Given the description of an element on the screen output the (x, y) to click on. 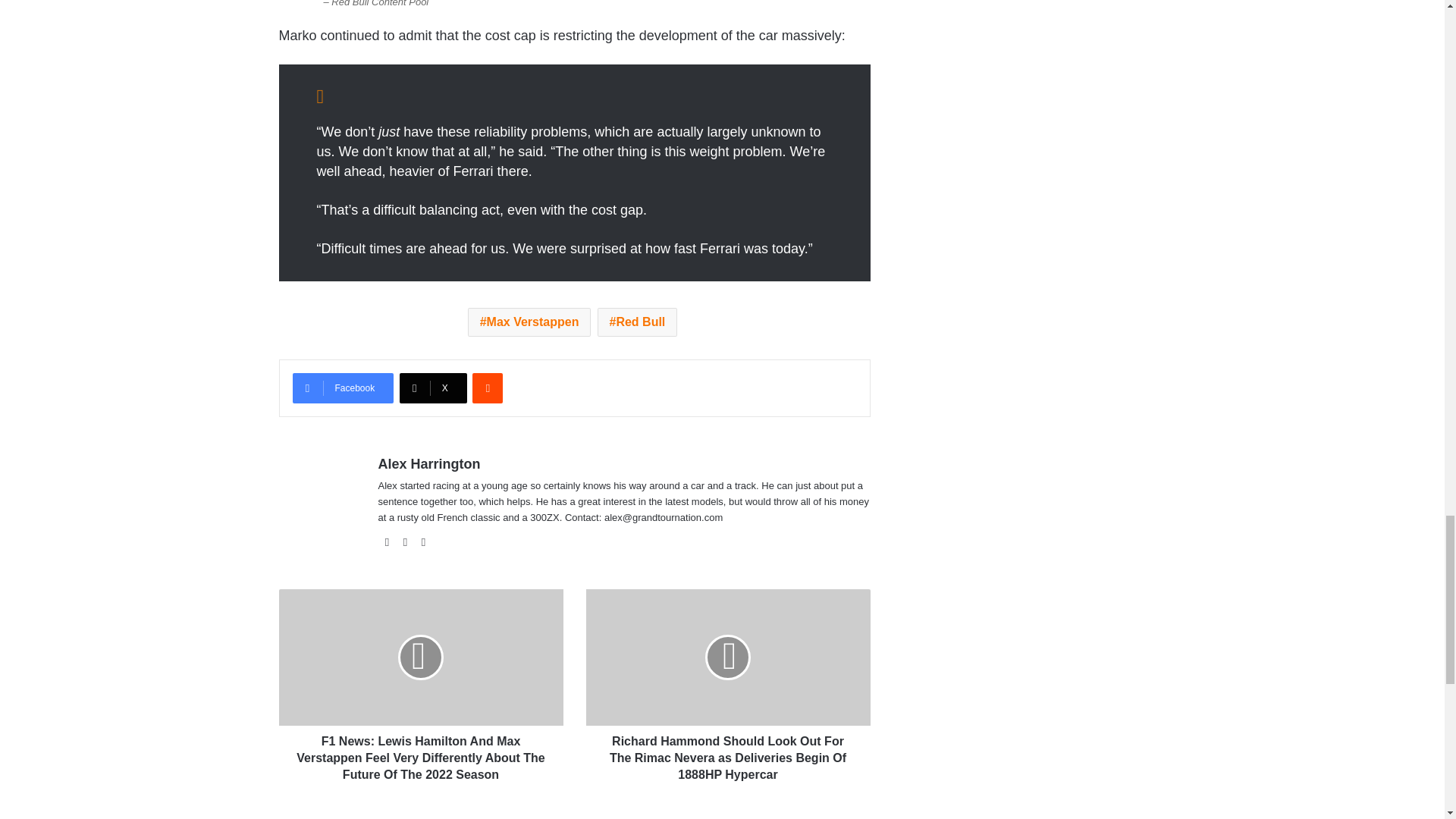
X (432, 388)
Reddit (486, 388)
Facebook (343, 388)
